Given the description of an element on the screen output the (x, y) to click on. 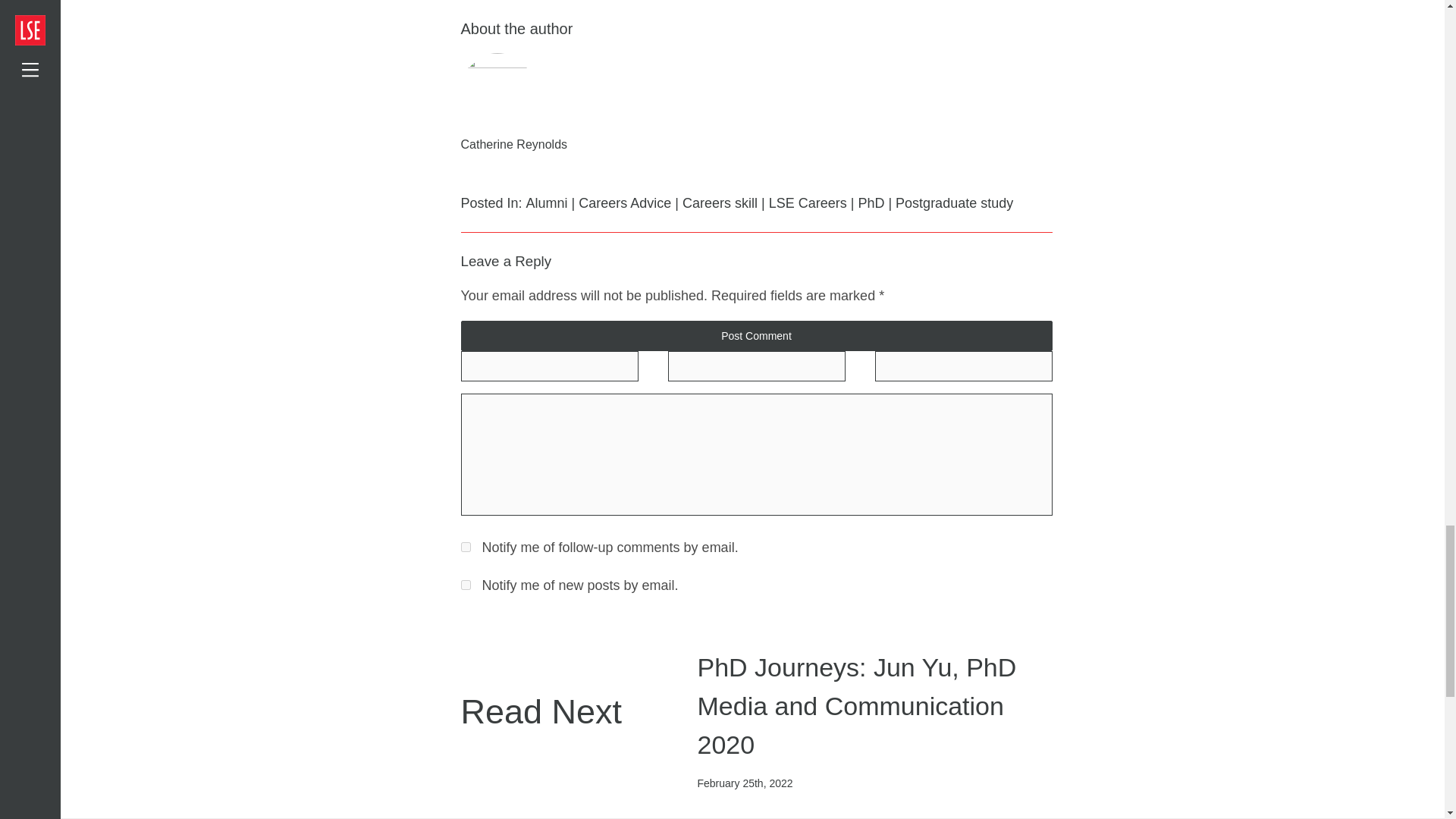
Post Comment (756, 336)
subscribe (465, 547)
Post Comment (756, 336)
subscribe (465, 584)
